Given the description of an element on the screen output the (x, y) to click on. 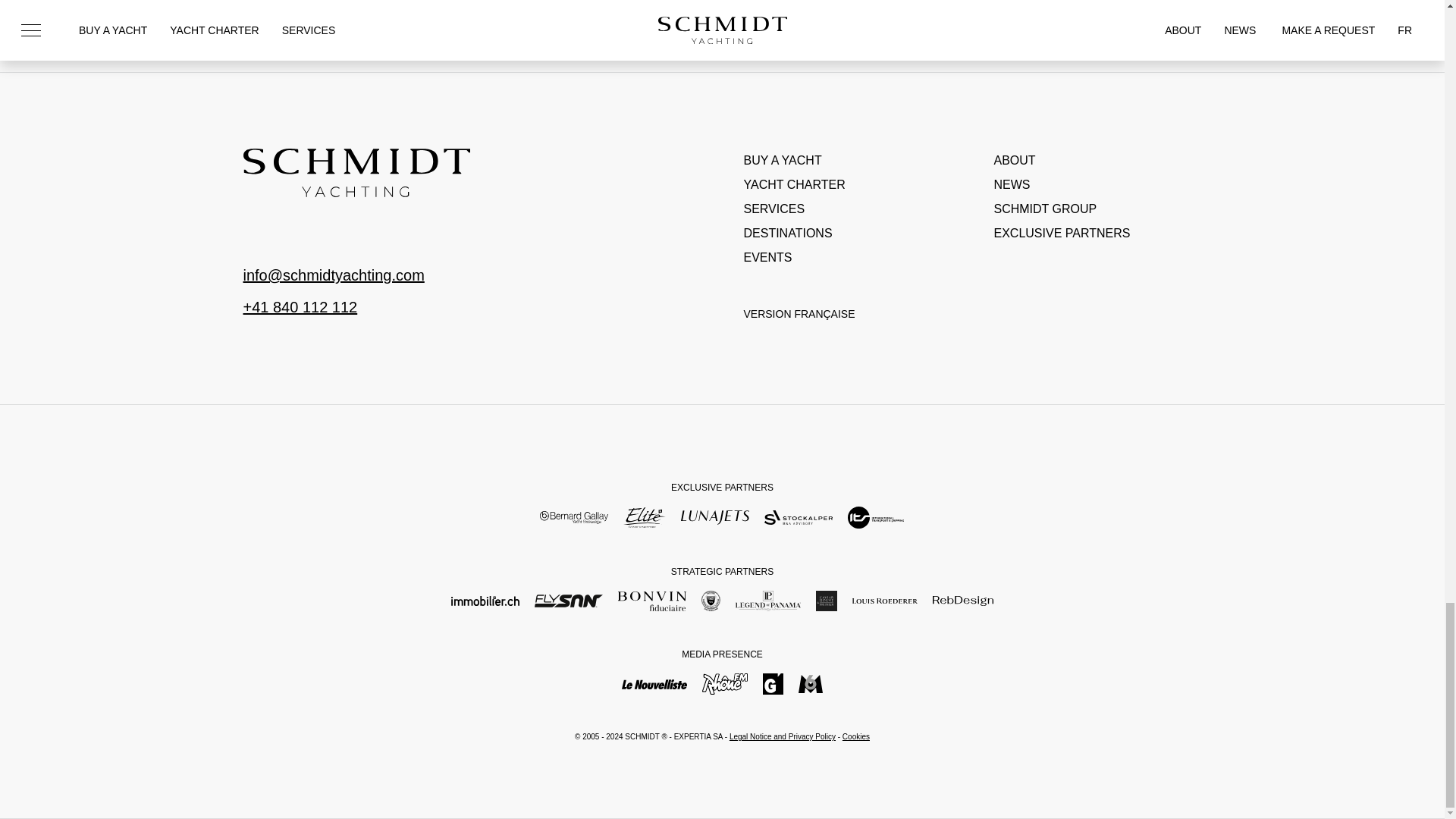
Yacht charter (846, 184)
Become a yacht owner (846, 160)
